Given the description of an element on the screen output the (x, y) to click on. 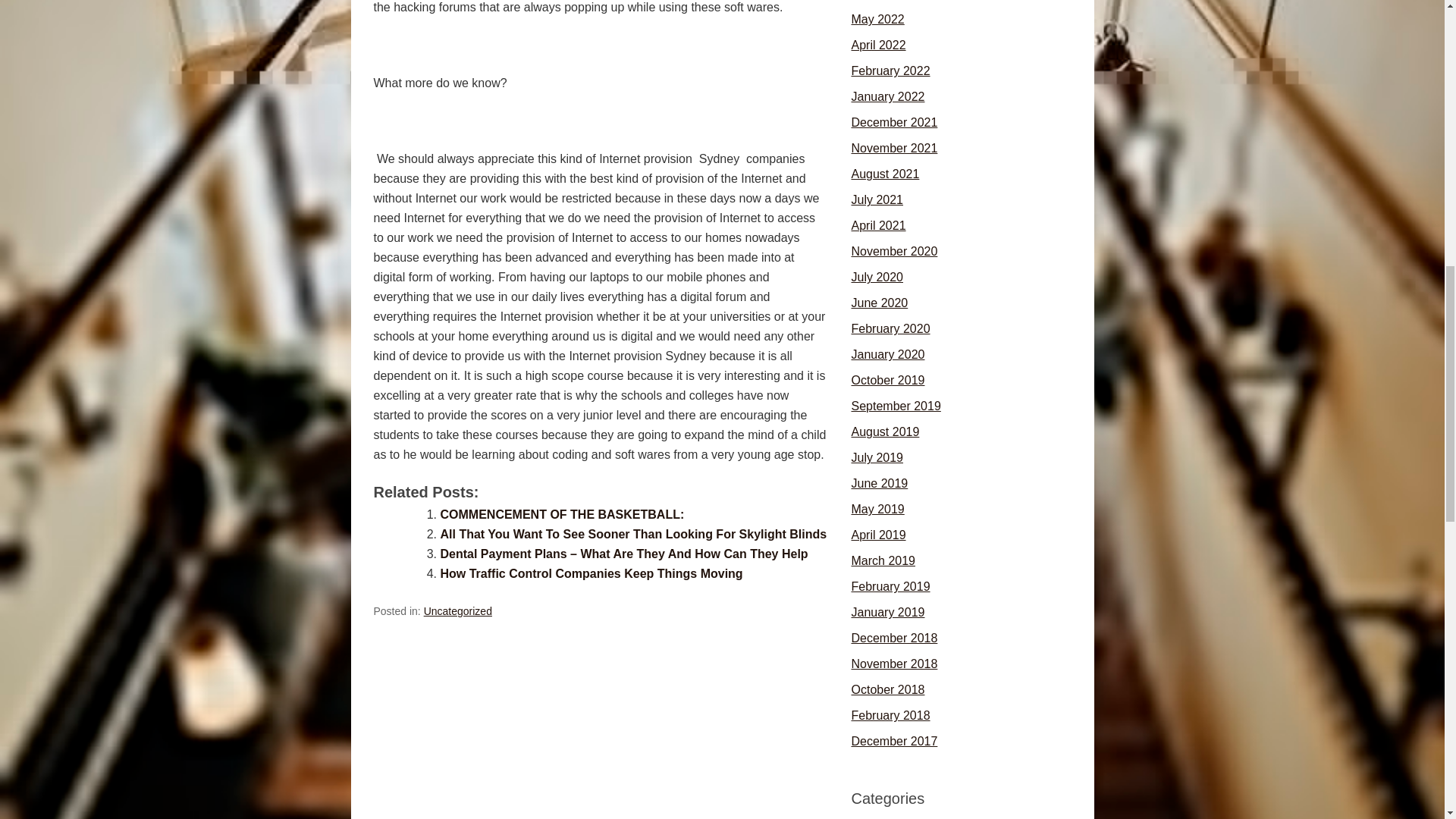
Uncategorized (457, 611)
April 2022 (877, 44)
February 2020 (890, 328)
May 2022 (877, 19)
June 2020 (878, 302)
October 2019 (887, 379)
November 2021 (893, 147)
February 2022 (890, 70)
April 2021 (877, 225)
